Given the description of an element on the screen output the (x, y) to click on. 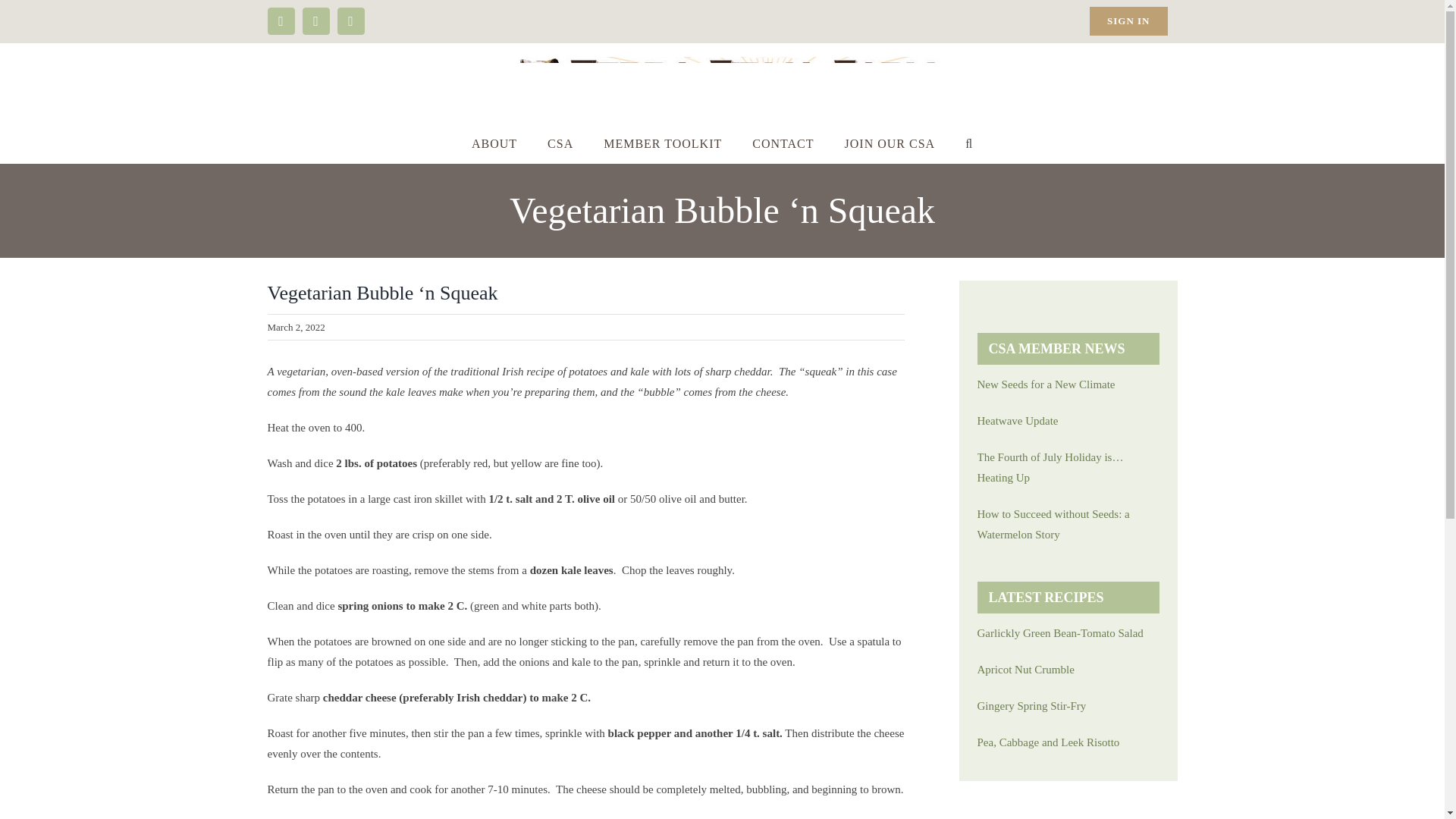
New Seeds for a New Climate (1067, 384)
Heatwave Update (1067, 421)
Instagram (315, 21)
ABOUT (494, 143)
How to Succeed without Seeds: a Watermelon Story (1067, 524)
CONTACT (782, 143)
Facebook (280, 21)
MEMBER TOOLKIT (662, 143)
Search (969, 143)
Pea, Cabbage and Leek Risotto (1067, 742)
JOIN OUR CSA (889, 143)
Yelp (350, 21)
Garlickly Green Bean-Tomato Salad (1067, 633)
Facebook (280, 21)
Yelp (350, 21)
